Given the description of an element on the screen output the (x, y) to click on. 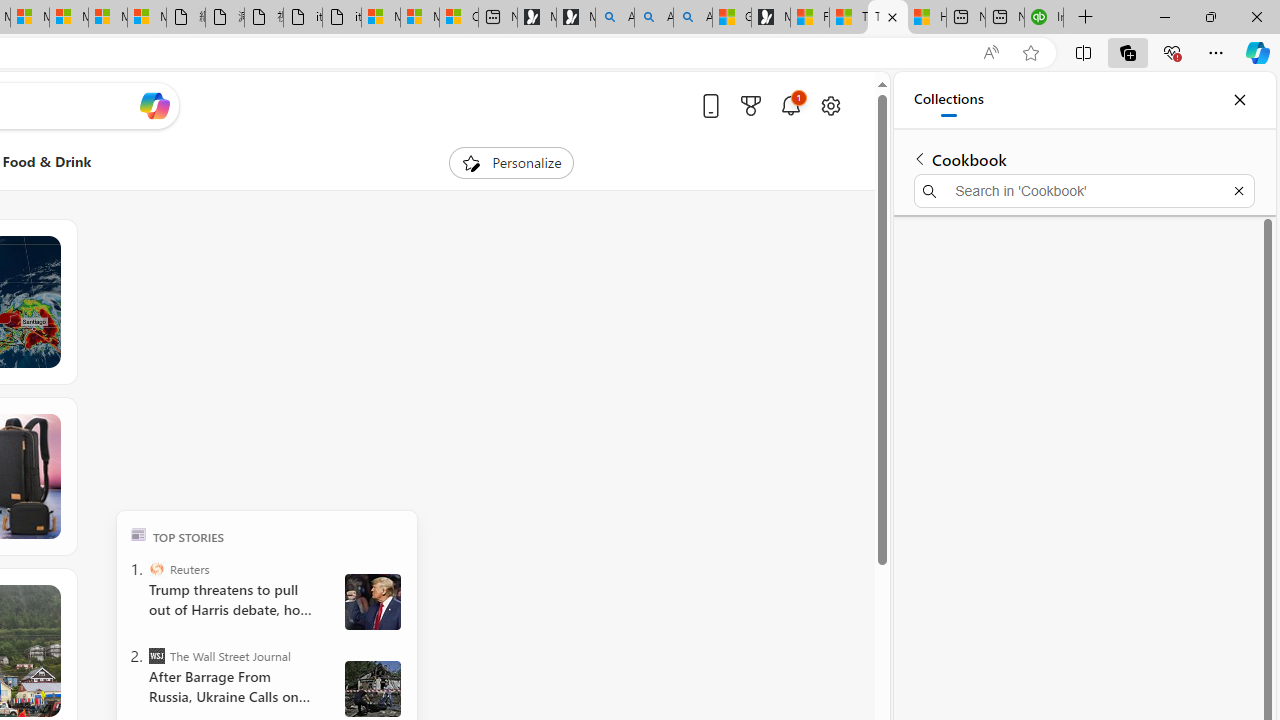
TOP (138, 534)
Consumer Health Data Privacy Policy (458, 17)
Alabama high school quarterback dies - Search (614, 17)
Alabama high school quarterback dies - Search Videos (692, 17)
